Given the description of an element on the screen output the (x, y) to click on. 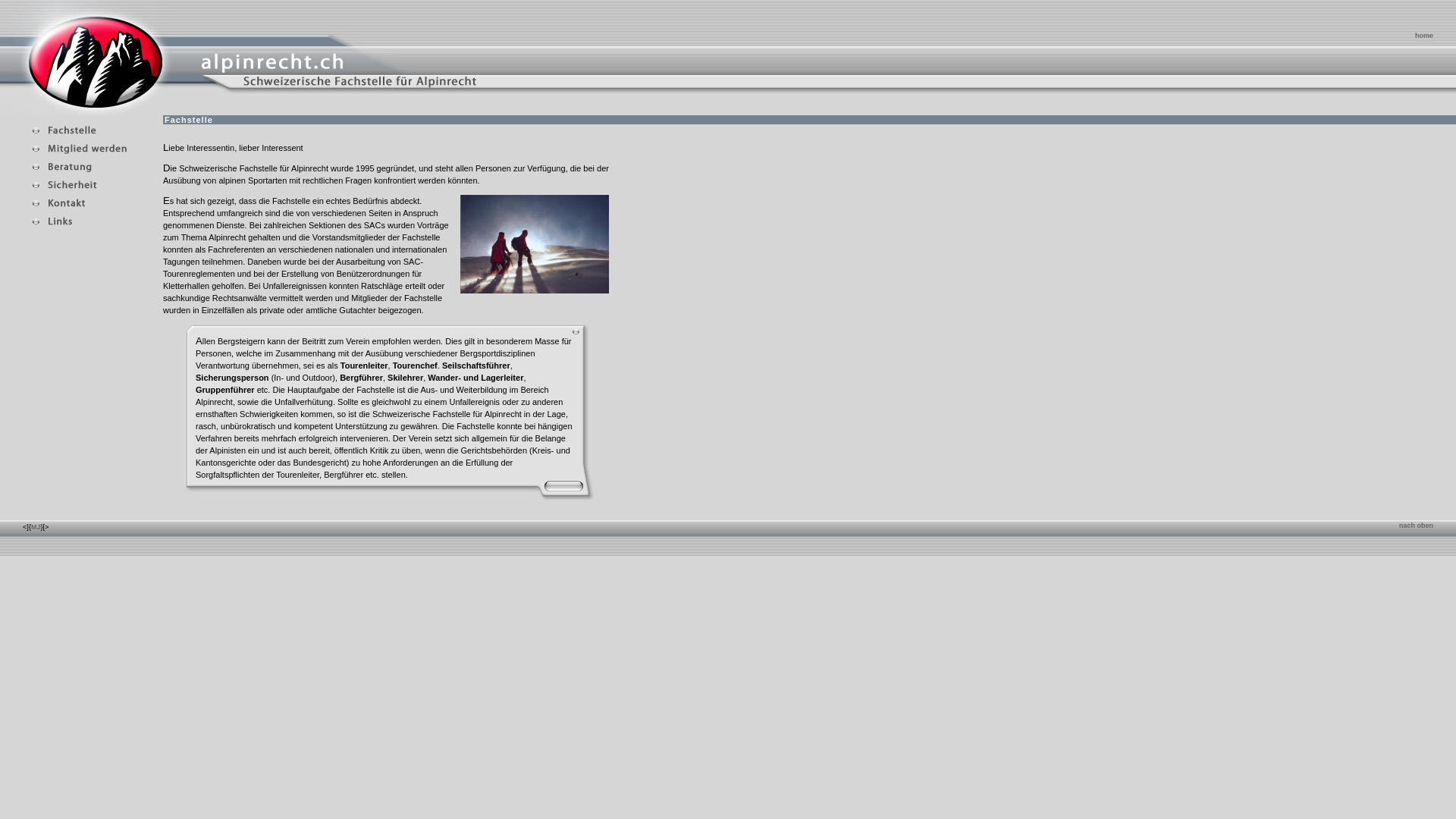
MJ Element type: text (35, 526)
home Element type: text (1424, 35)
nach oben Element type: text (1416, 525)
